Given the description of an element on the screen output the (x, y) to click on. 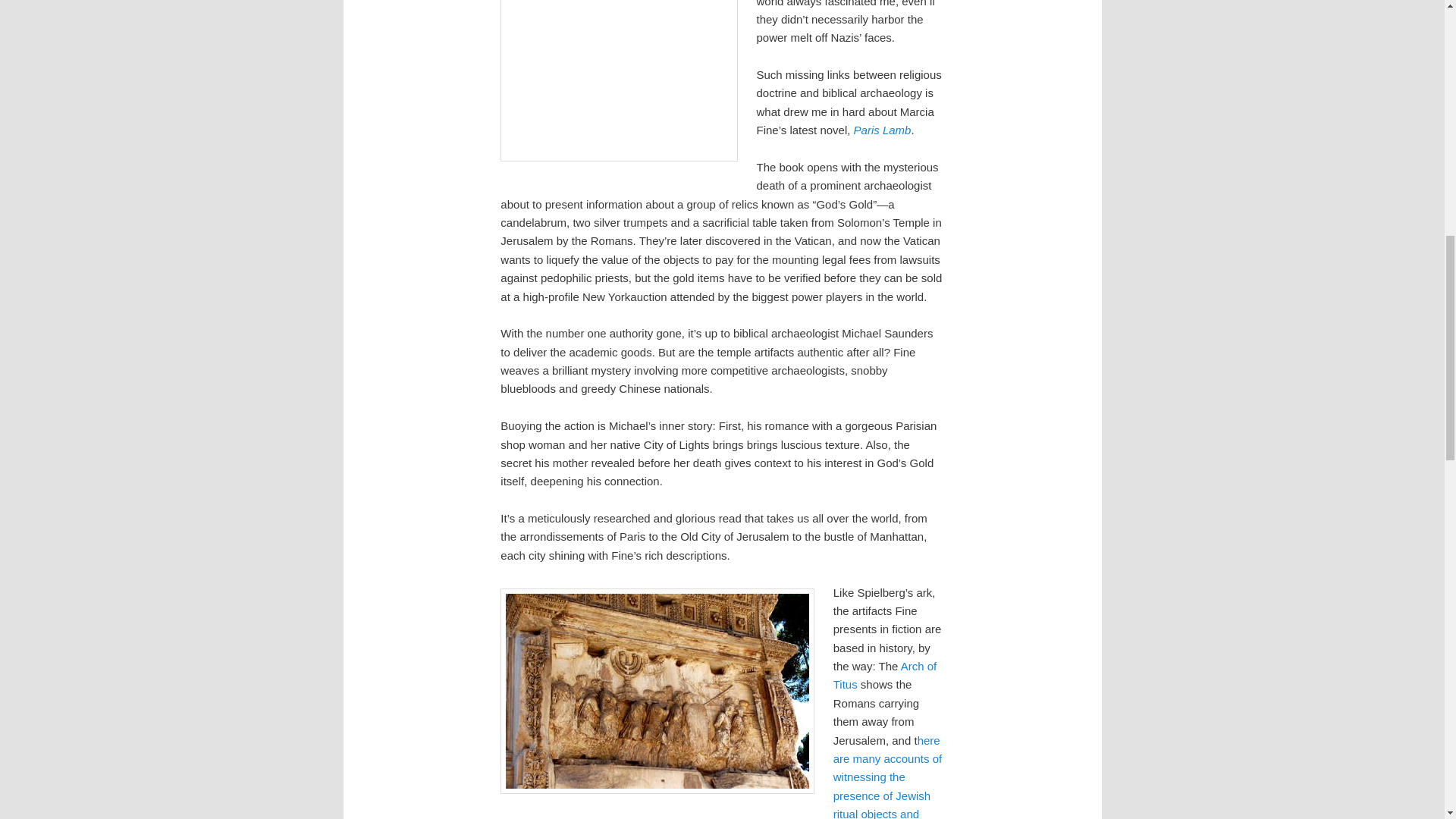
Arch of Titus (884, 675)
Paris Lamb (882, 129)
